Given the description of an element on the screen output the (x, y) to click on. 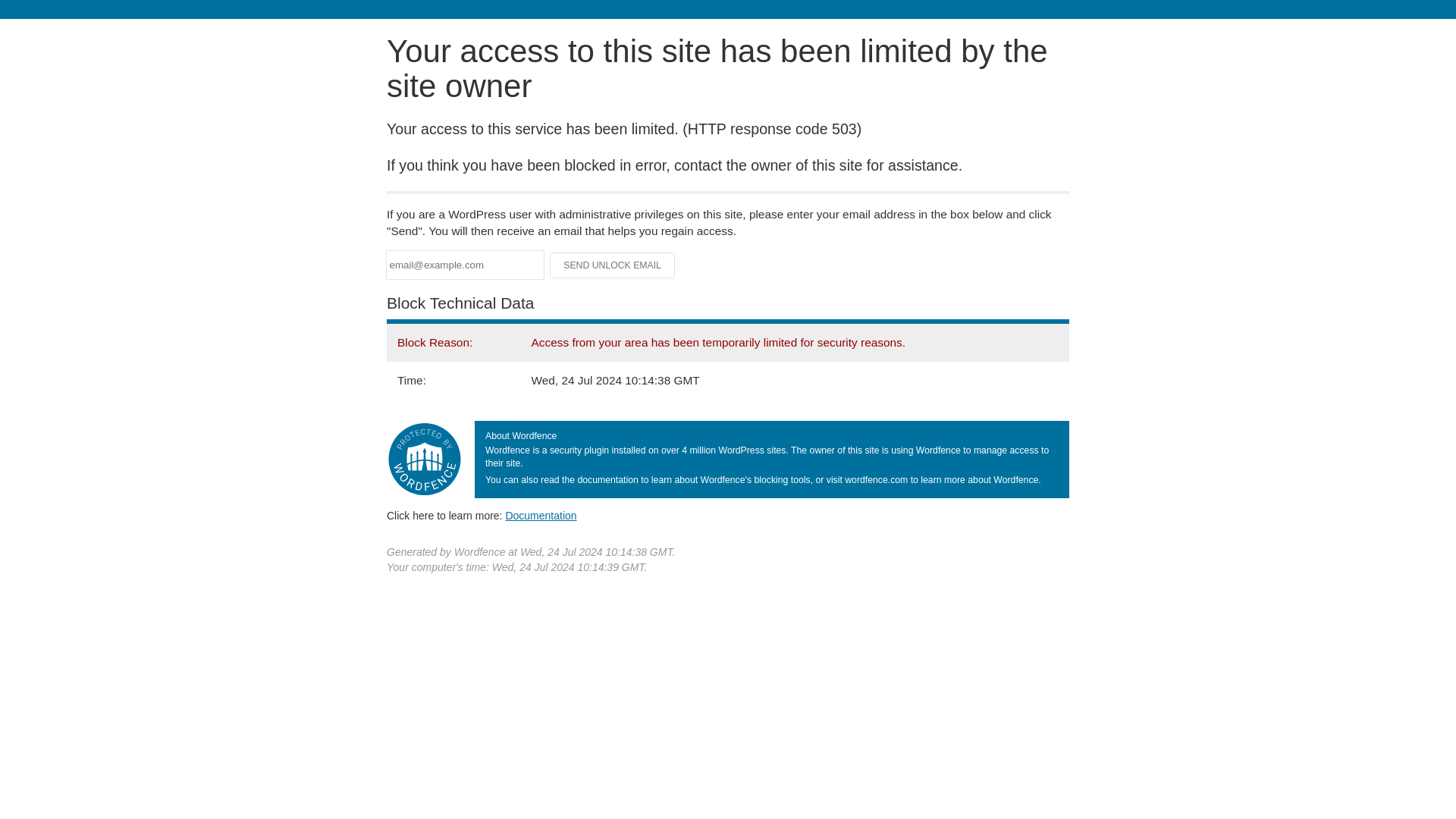
Send Unlock Email (612, 265)
Documentation (540, 515)
Send Unlock Email (612, 265)
